Given the description of an element on the screen output the (x, y) to click on. 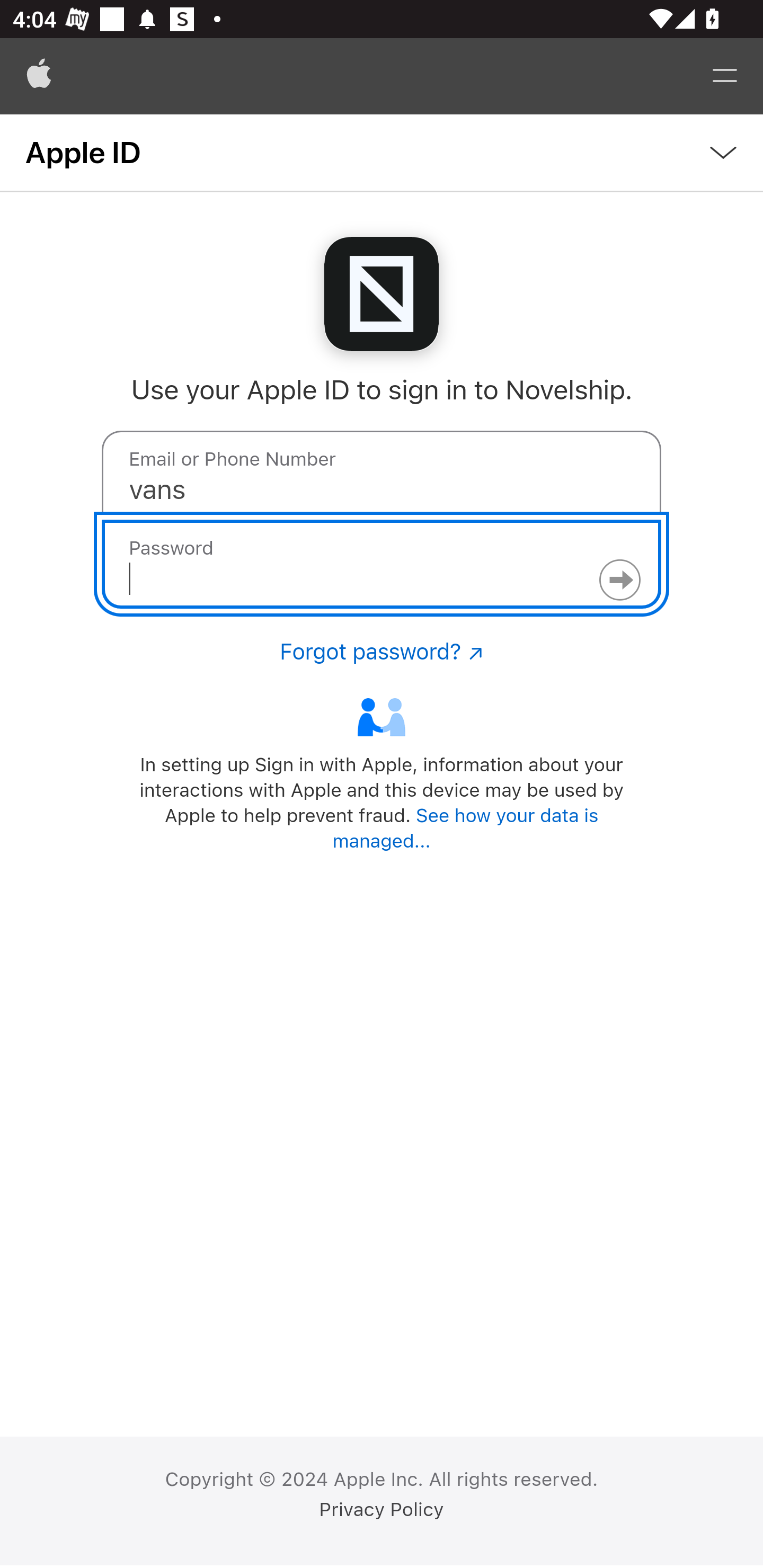
Apple (38, 75)
Menu (724, 75)
vans (381, 475)
Sign In (618, 579)
Privacy Policy (381, 1509)
